Given the description of an element on the screen output the (x, y) to click on. 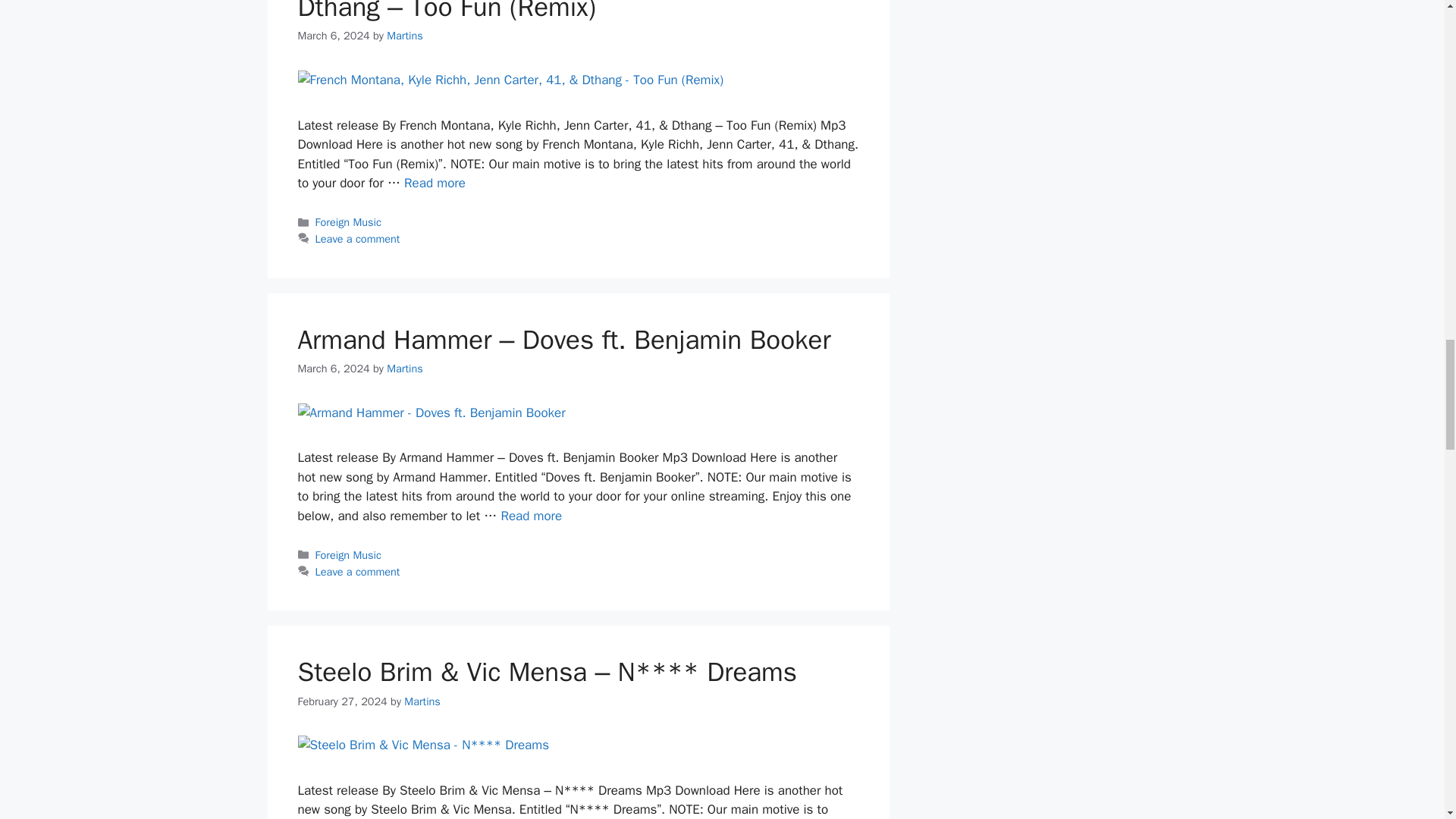
View all posts by Martins (405, 368)
View all posts by Martins (405, 35)
View all posts by Martins (422, 701)
